Given the description of an element on the screen output the (x, y) to click on. 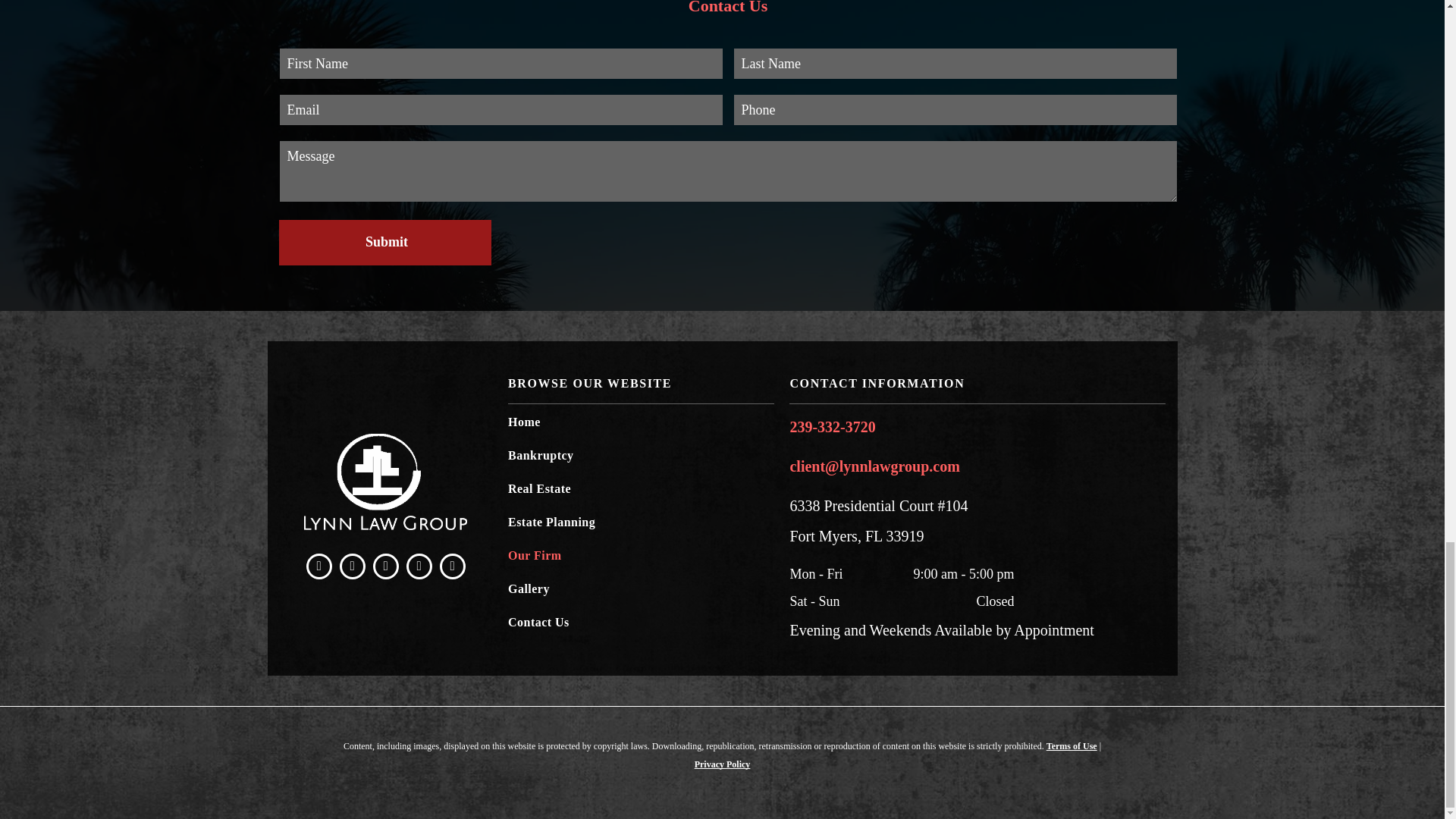
Bankruptcy (641, 459)
Lynn Law Group (385, 482)
Gallery (641, 593)
Privacy Policy (722, 764)
Our Firm (641, 560)
239-332-3720 (832, 426)
Contact Us (641, 626)
Submit (386, 241)
Home (641, 426)
Contact Us (728, 7)
